Given the description of an element on the screen output the (x, y) to click on. 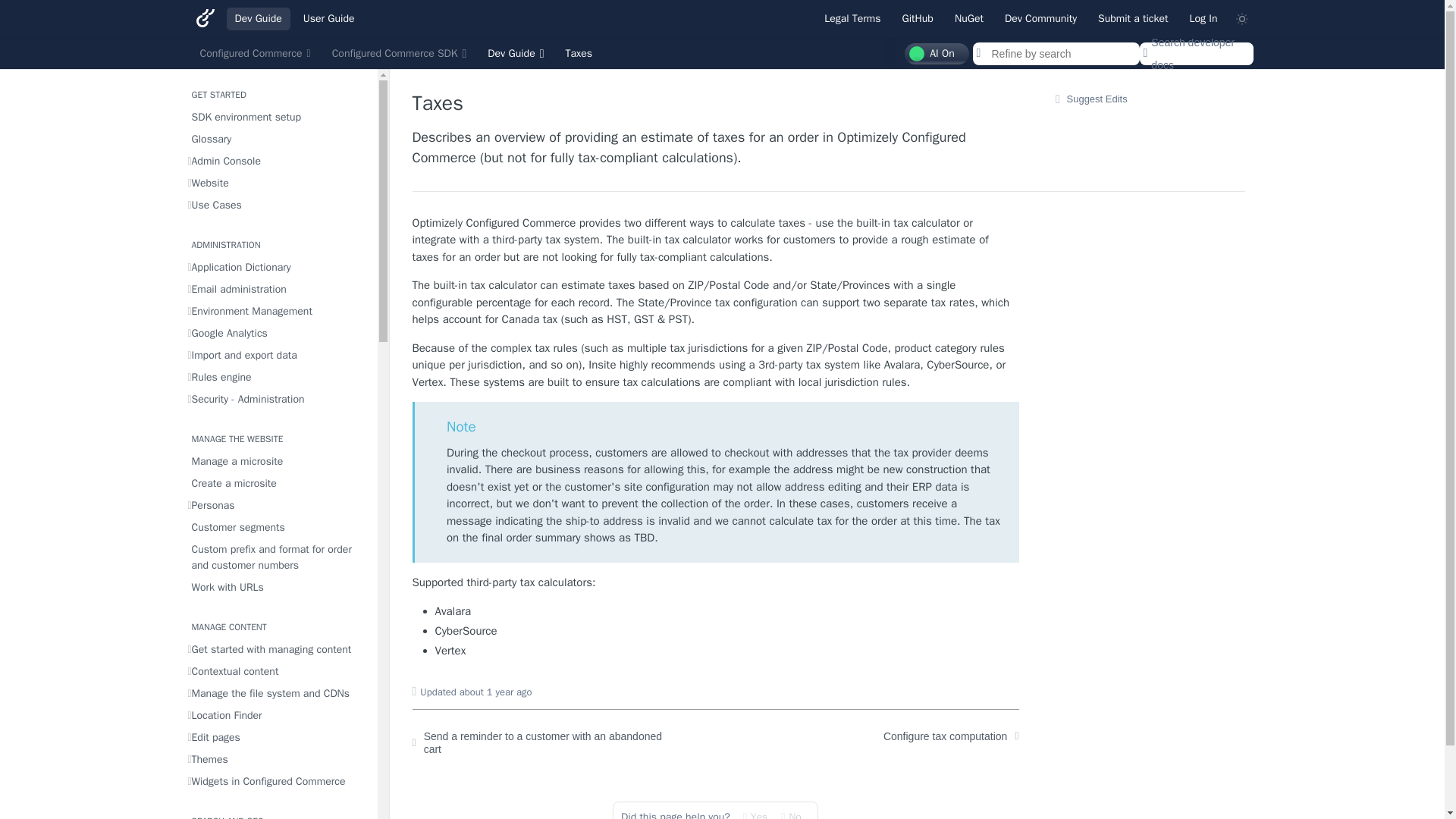
Glossary (277, 138)
SDK environment setup (277, 117)
Configured Commerce SDK (399, 53)
GitHub (917, 18)
Dev Community (1039, 18)
Dev Guide (515, 53)
Submit a ticket (1132, 18)
User Guide (328, 18)
Legal Terms (851, 18)
Admin Console (277, 160)
Dev Guide (257, 18)
Log In (1202, 18)
Search developer docs (1195, 53)
Configured Commerce (254, 53)
NuGet (968, 18)
